Given the description of an element on the screen output the (x, y) to click on. 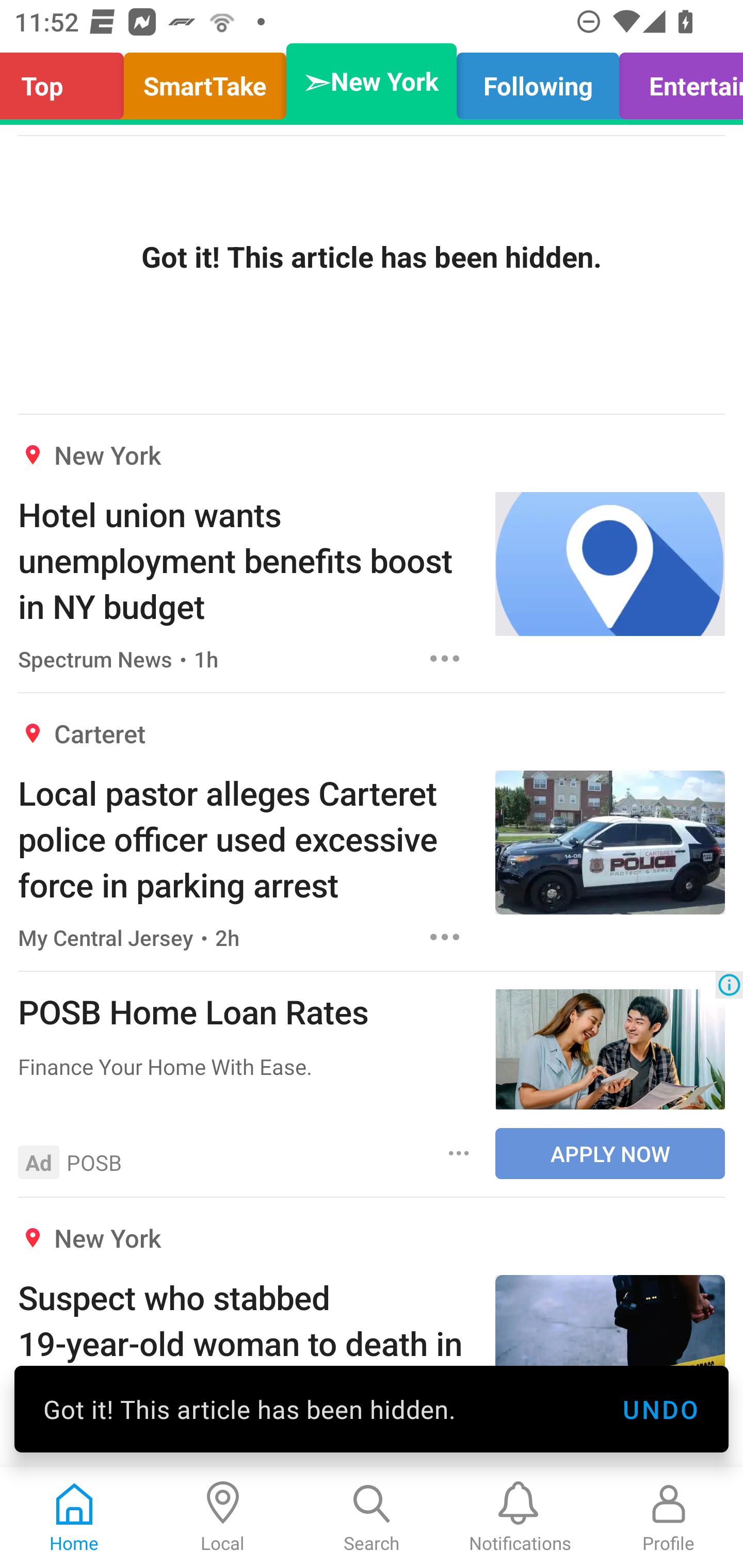
Top (67, 81)
SmartTake (204, 81)
➣New York (371, 81)
Following (537, 81)
Options (444, 658)
Options (444, 937)
Ad Choices Icon (729, 984)
POSB Home Loan Rates (247, 1011)
Finance Your Home With Ease. (247, 1066)
APPLY NOW (610, 1153)
Options (459, 1153)
POSB (93, 1162)
UNDO (660, 1408)
Local (222, 1517)
Search (371, 1517)
Notifications (519, 1517)
Profile (668, 1517)
